Given the description of an element on the screen output the (x, y) to click on. 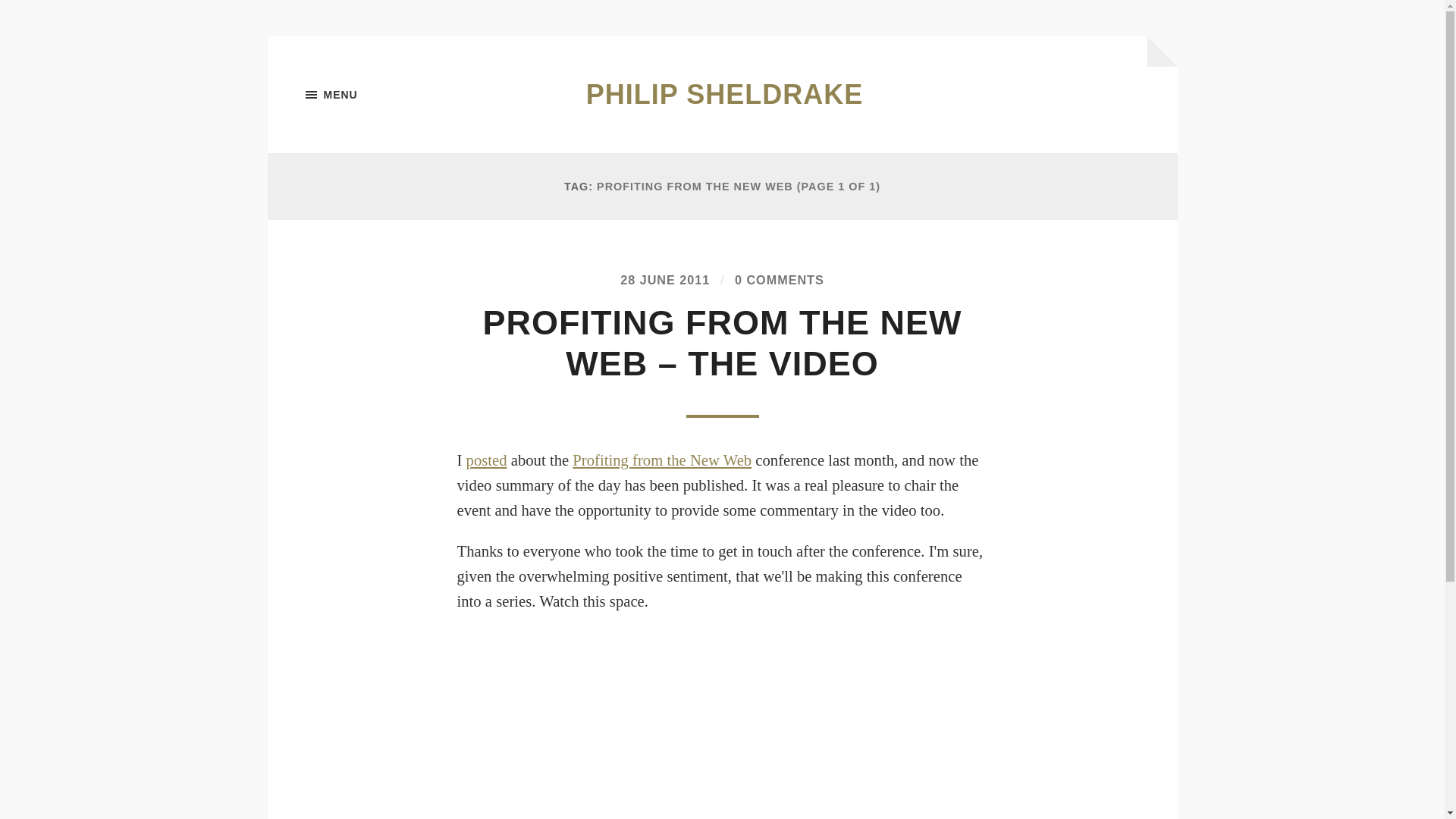
Profiting from the New Web (661, 460)
MENU (380, 94)
PHILIP SHELDRAKE (724, 93)
28 JUNE 2011 (665, 279)
0 COMMENTS (779, 279)
posted (485, 460)
